Given the description of an element on the screen output the (x, y) to click on. 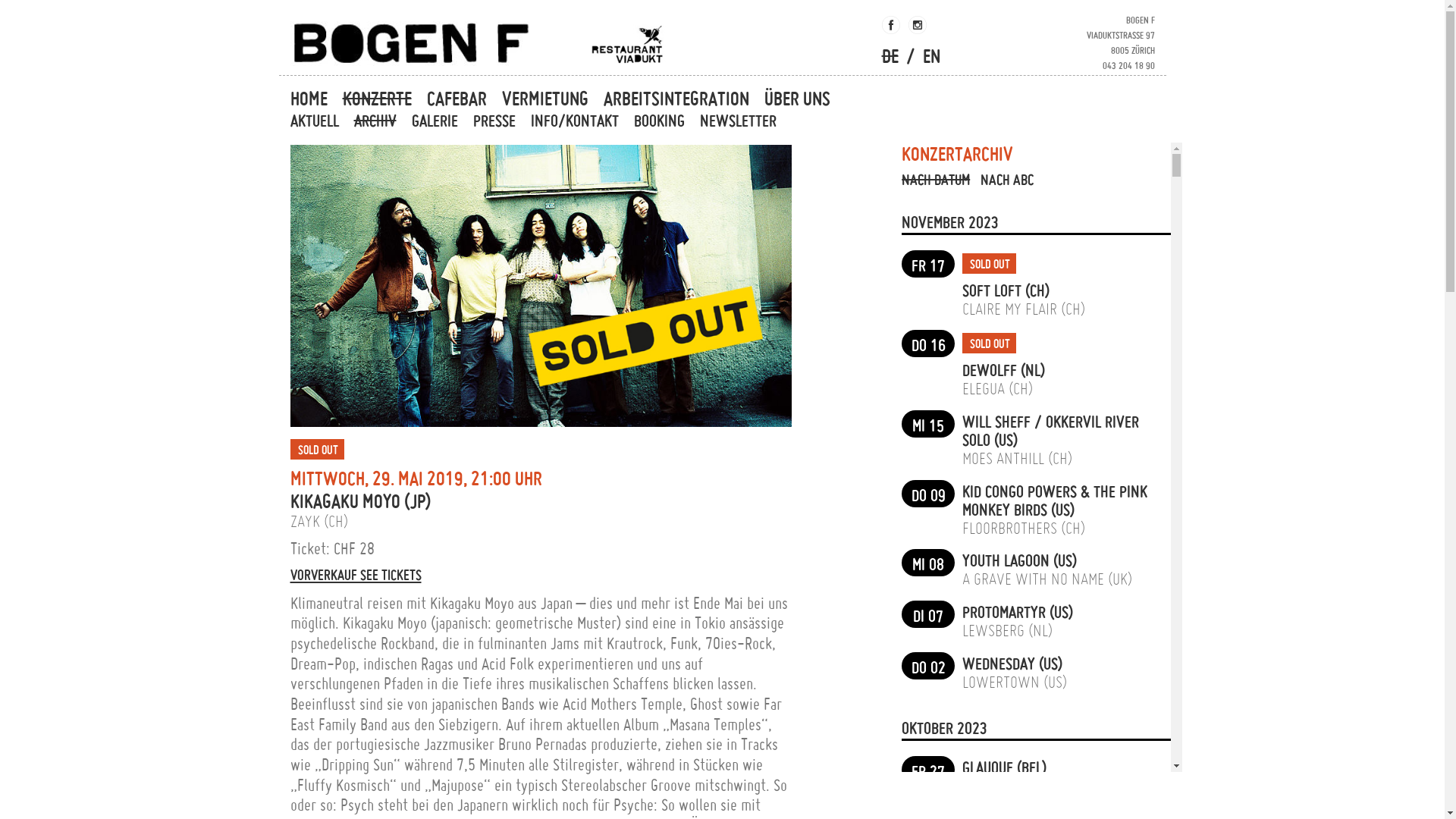
WILL SHEFF / OKKERVIL RIVER SOLO (US)
MOES ANTHILL (CH) Element type: text (1059, 438)
NACH ABC Element type: text (1006, 178)
EN Element type: text (930, 55)
BOOKING Element type: text (659, 120)
NACH DATUM Element type: text (935, 178)
VERMIETUNG Element type: text (545, 98)
ARCHIV Element type: text (374, 120)
PRESSE Element type: text (494, 120)
AKTUELL Element type: text (316, 120)
INFO/KONTAKT Element type: text (574, 120)
PROTOMARTYR (US)
LEWSBERG (NL) Element type: text (1017, 619)
HOME Element type: text (310, 98)
CAFEBAR Element type: text (455, 98)
NEWSLETTER Element type: text (737, 120)
VORVERKAUF SEE TICKETS Element type: text (539, 574)
YOUTH LAGOON (US)
A GRAVE WITH NO NAME (UK) Element type: text (1047, 568)
GLAUQUE (BEL)
TOMPAUL (CH) Element type: text (1004, 775)
DE Element type: text (889, 55)
SOLD OUT
SOFT LOFT (CH)
CLAIRE MY FLAIR (CH) Element type: text (1023, 283)
KONZERTE Element type: text (377, 98)
ARBEITSINTEGRATION Element type: text (676, 98)
SOLD OUT
DEWOLFF (NL)
ELEGUA (CH) Element type: text (1003, 363)
WEDNESDAY (US)
LOWERTOWN (US) Element type: text (1014, 671)
GALERIE Element type: text (433, 120)
